Given the description of an element on the screen output the (x, y) to click on. 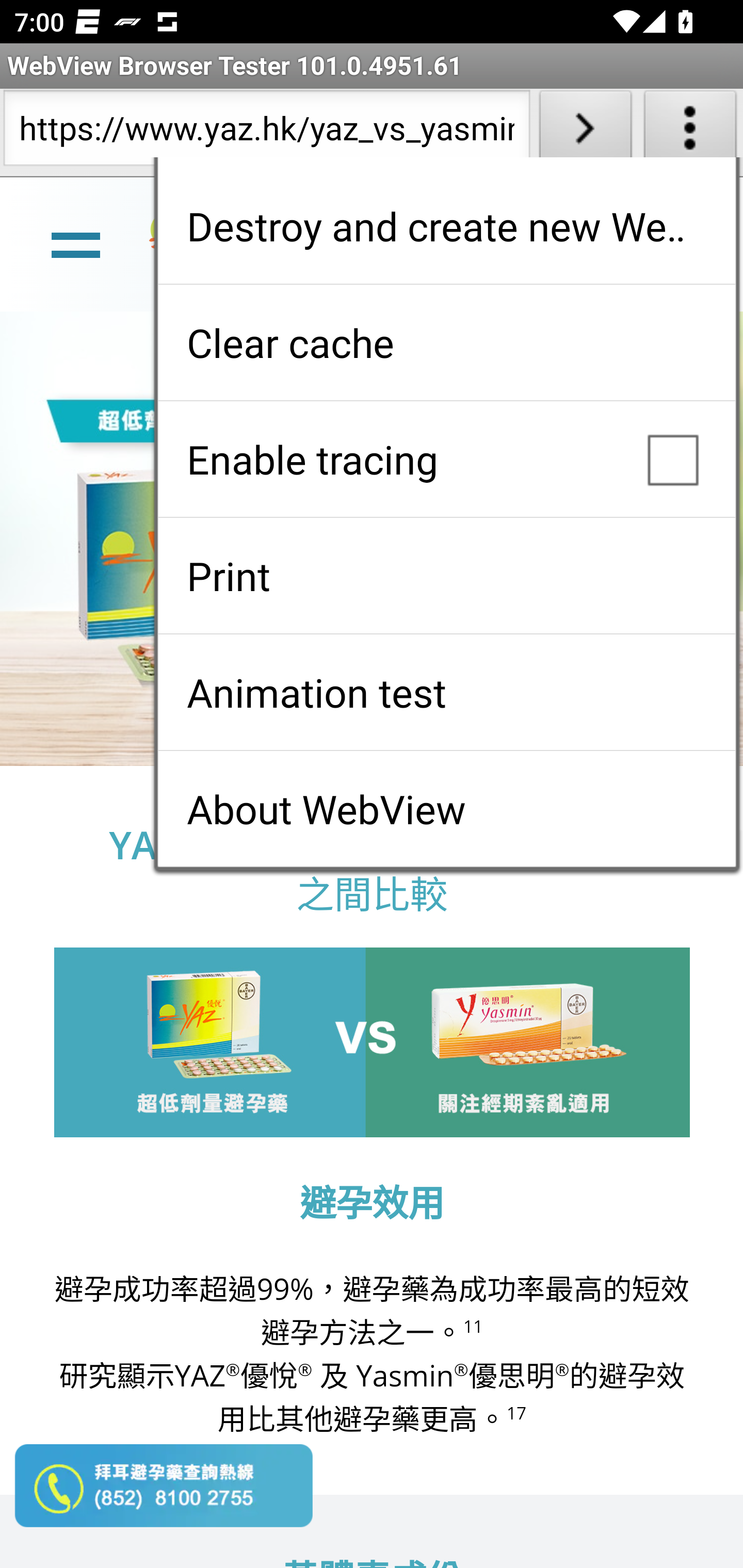
Destroy and create new WebView (446, 225)
Clear cache (446, 342)
Enable tracing (446, 459)
Print (446, 575)
Animation test (446, 692)
About WebView (446, 809)
